Given the description of an element on the screen output the (x, y) to click on. 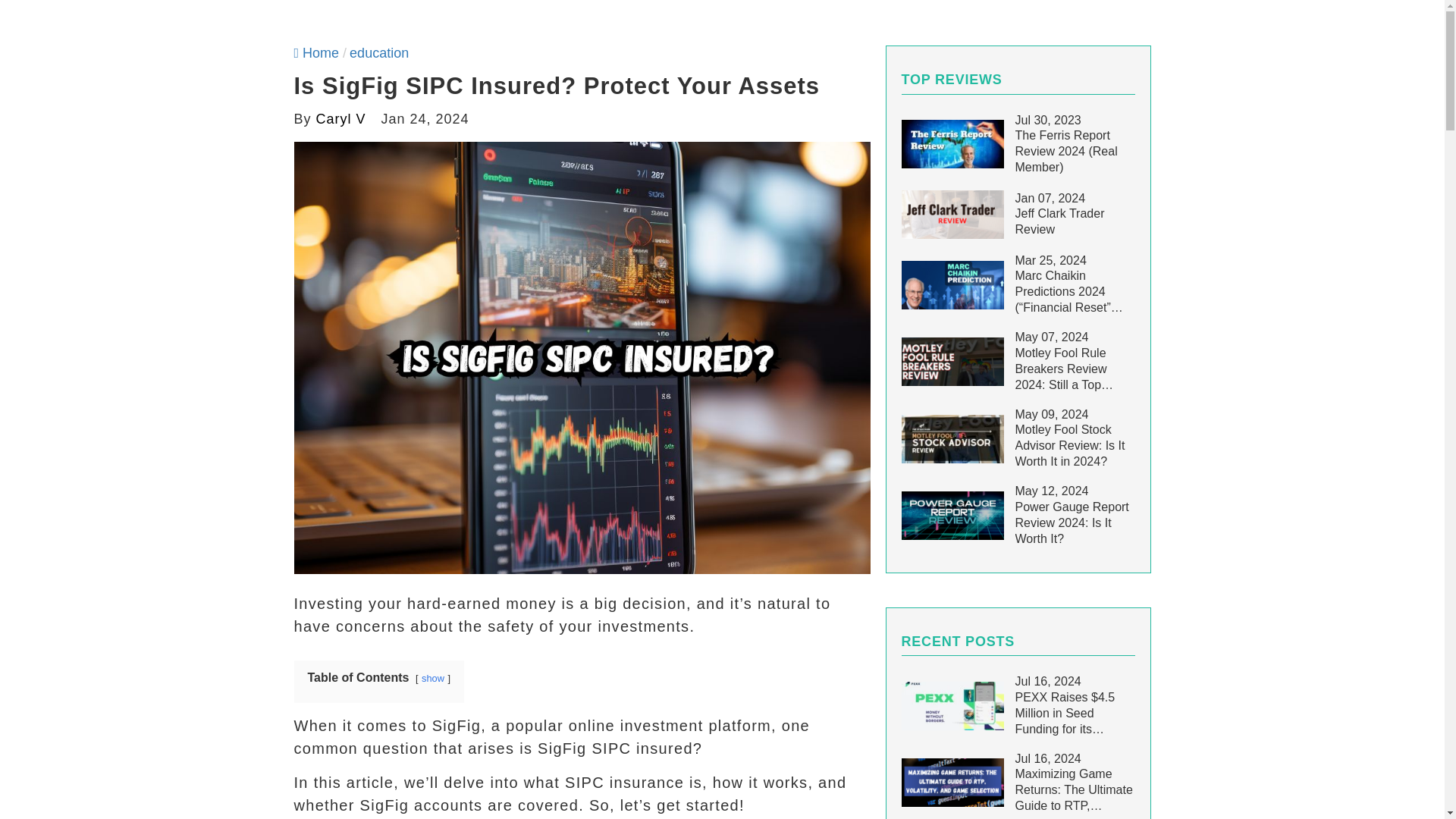
Home (316, 52)
education (379, 52)
Caryl V (340, 118)
show (433, 677)
Category Name (379, 52)
